Given the description of an element on the screen output the (x, y) to click on. 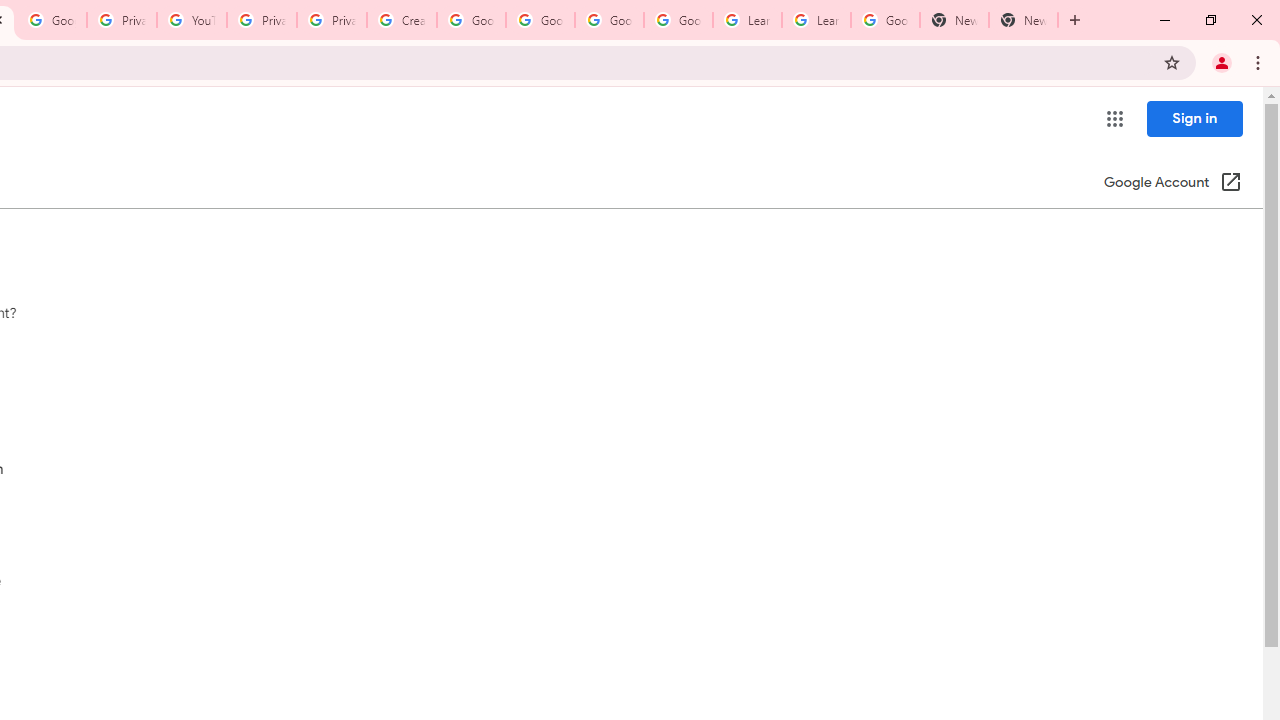
Google Account Help (677, 20)
Create your Google Account (401, 20)
Google Account Help (470, 20)
Google Account Help (608, 20)
New Tab (954, 20)
Google Account (885, 20)
